Given the description of an element on the screen output the (x, y) to click on. 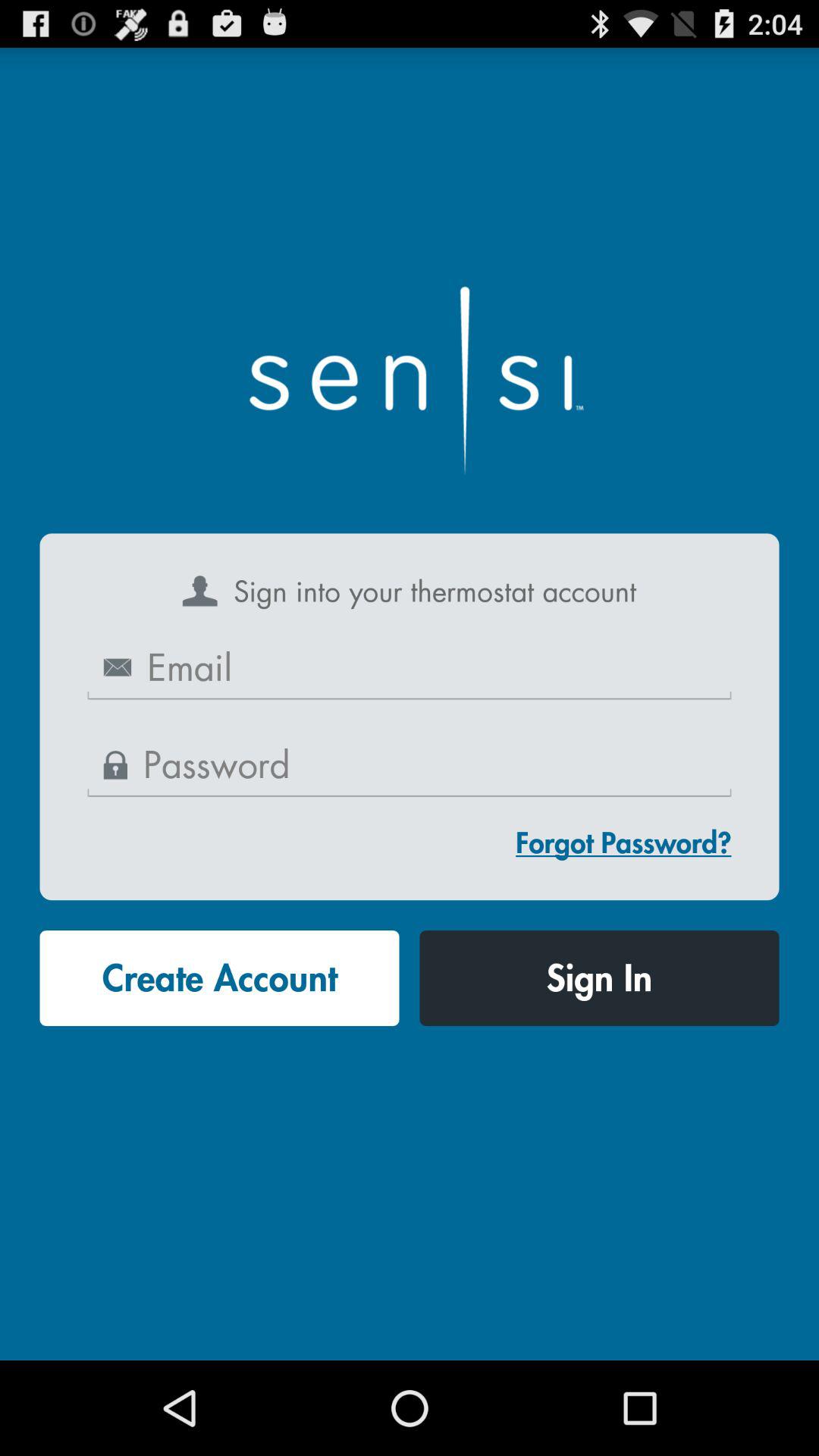
turn off the create account button (219, 978)
